Given the description of an element on the screen output the (x, y) to click on. 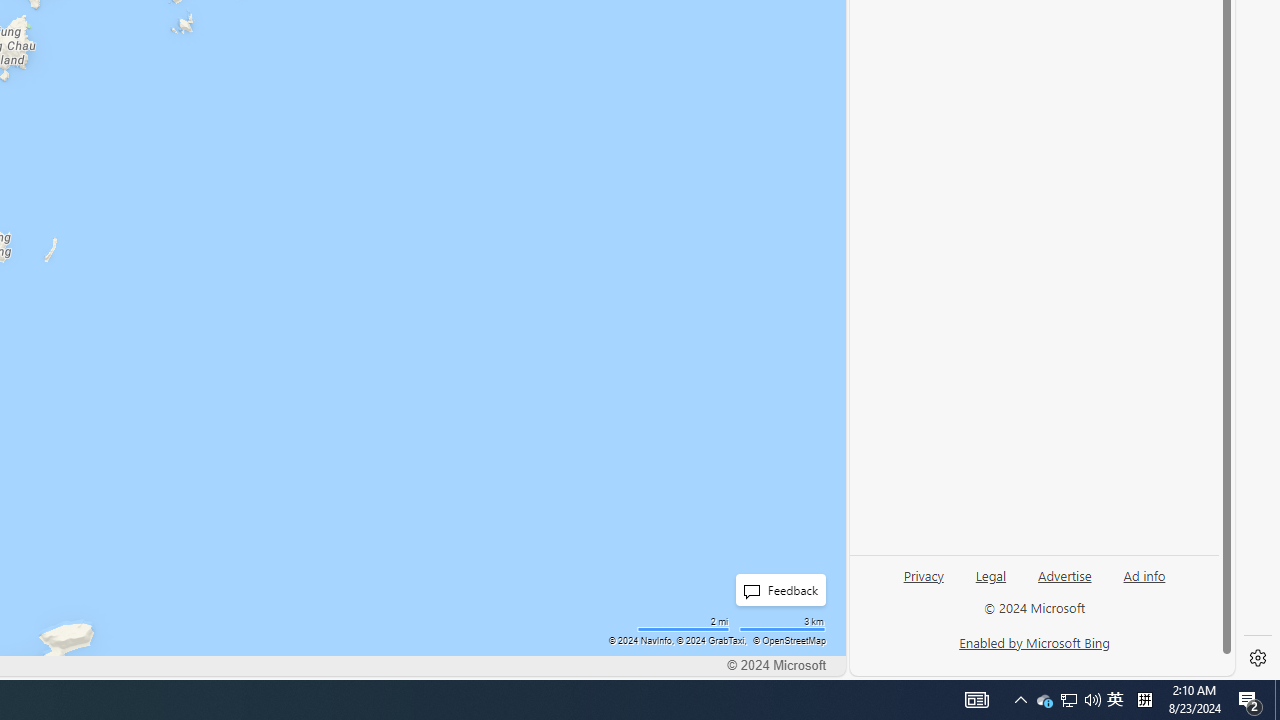
Privacy (923, 583)
Feedback (779, 589)
Legal (990, 583)
Advertise (1064, 583)
Privacy (923, 574)
Legal (991, 574)
Advertise (1064, 574)
Settings (1258, 658)
Ad info (1144, 574)
Ad info (1144, 583)
Feedback (775, 589)
